Given the description of an element on the screen output the (x, y) to click on. 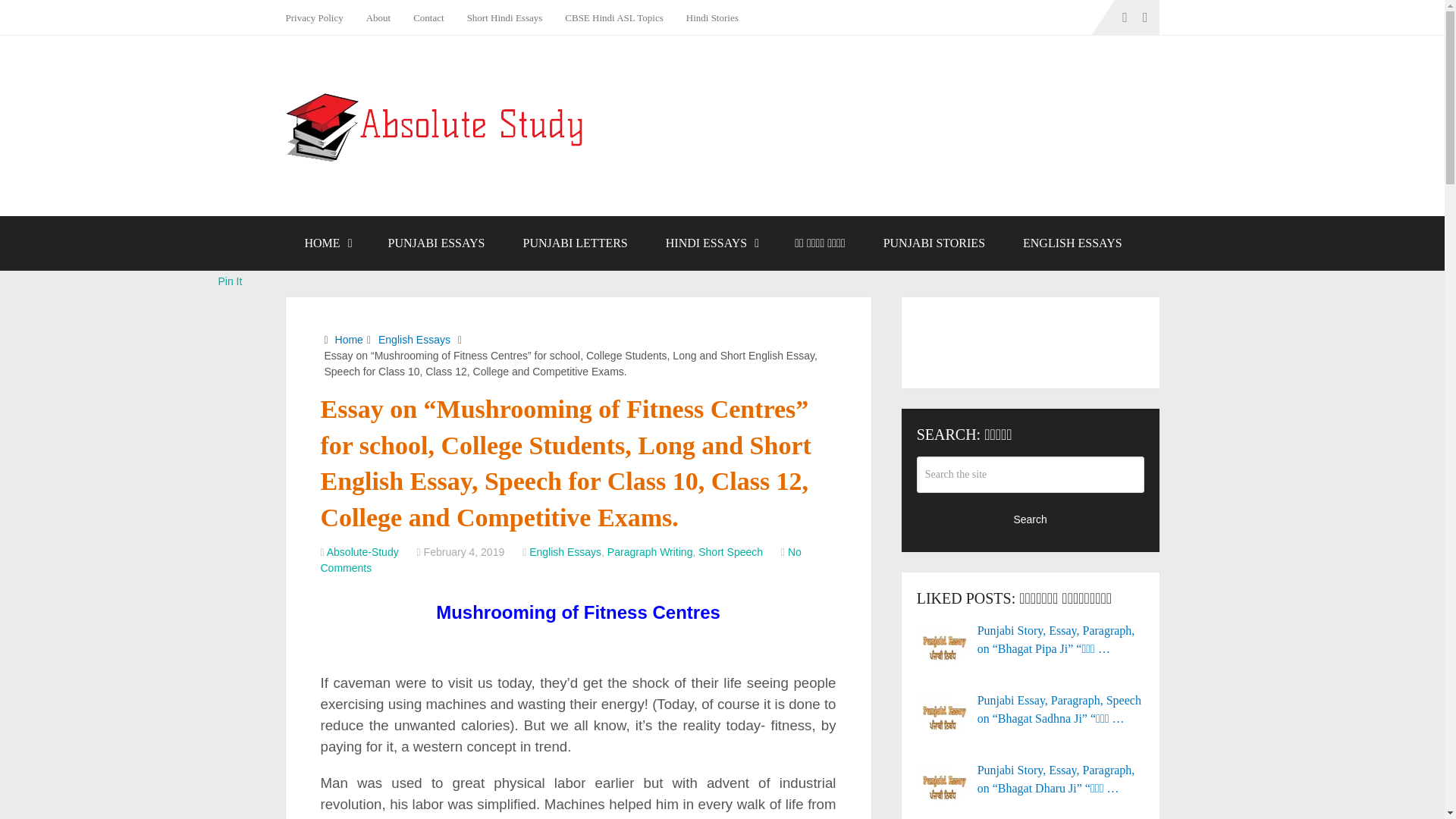
ENGLISH ESSAYS (1072, 243)
Privacy Policy (319, 17)
View all posts in English Essays (565, 551)
English Essays (413, 339)
Contact (427, 17)
HINDI ESSAYS (711, 243)
HOME (326, 243)
Short Speech (730, 551)
View all posts in Short Speech (730, 551)
Paragraph Writing (650, 551)
View all posts in Paragraph Writing (650, 551)
PUNJABI STORIES (934, 243)
Posts by Absolute-Study (362, 551)
Absolute-Study (362, 551)
English Essays (565, 551)
